Given the description of an element on the screen output the (x, y) to click on. 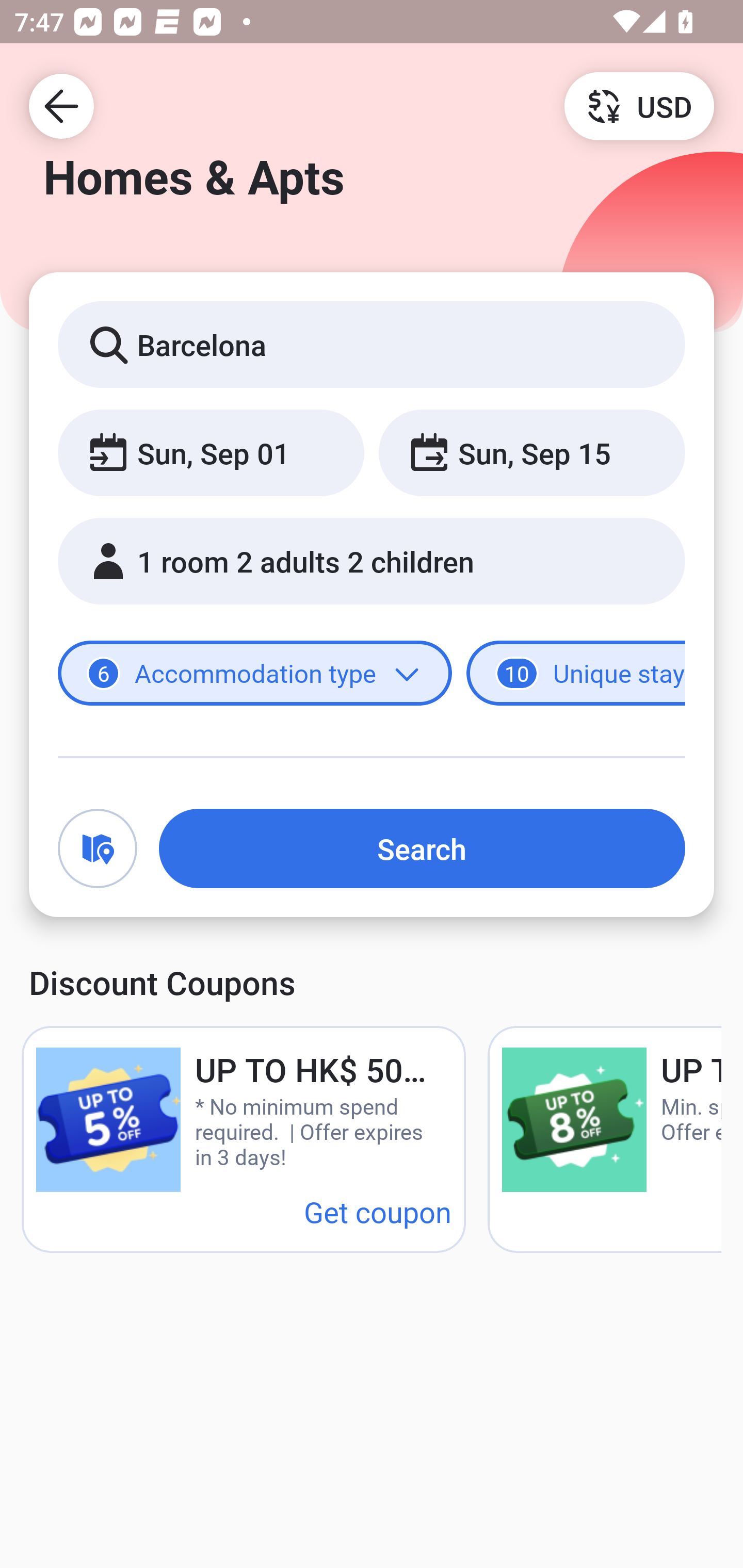
USD (639, 105)
Barcelona (371, 344)
Sun, Sep 01 (210, 452)
Sun, Sep 15 (531, 452)
1 room 2 adults 2 children (371, 561)
6 Accommodation type (254, 673)
10 Unique stays (575, 673)
Search (422, 848)
Get coupon (377, 1211)
